Given the description of an element on the screen output the (x, y) to click on. 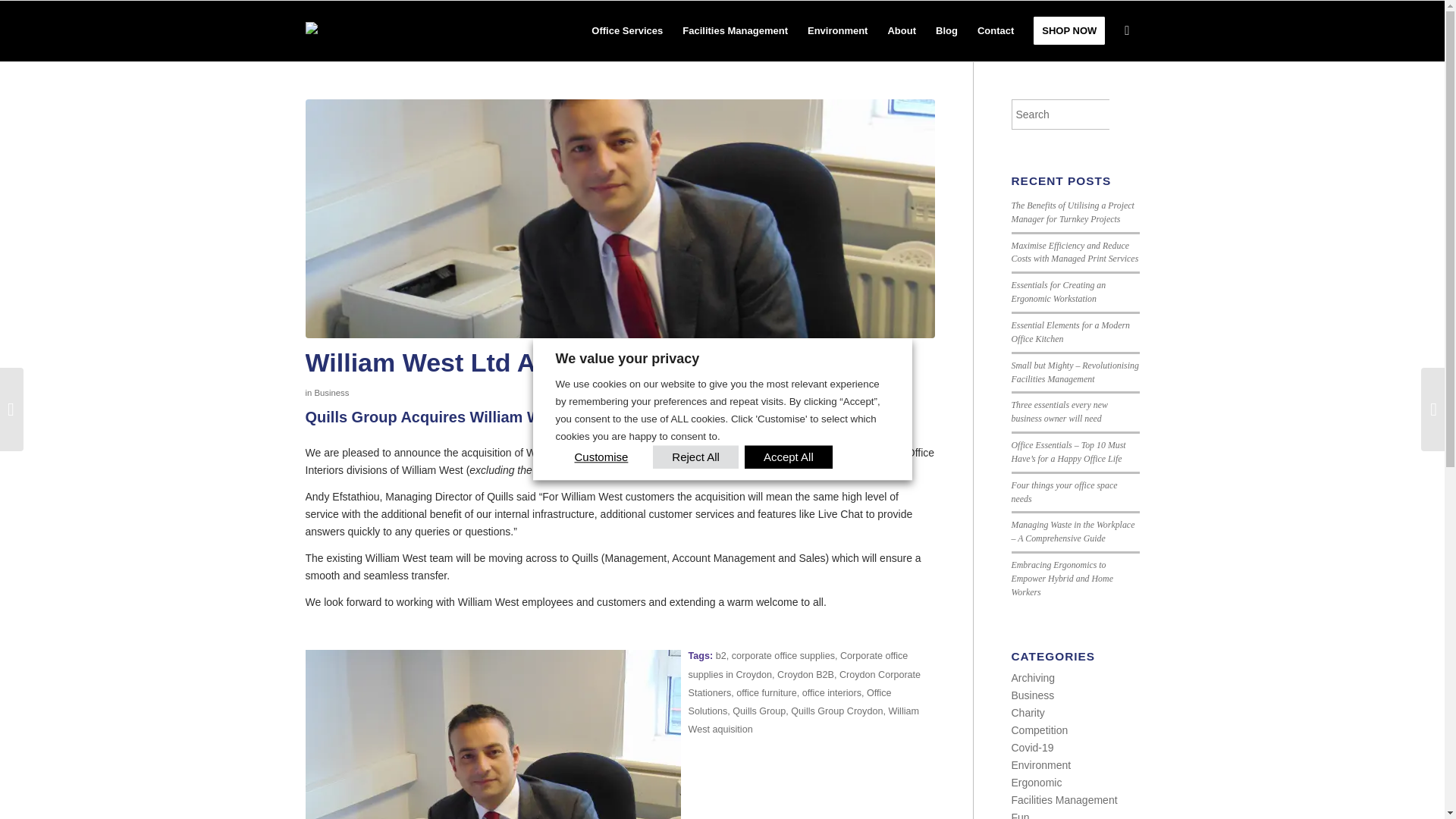
Office Services (626, 30)
Facilities Management (734, 30)
SHOP NOW (1069, 30)
White Reverse 350 (332, 31)
Environment (837, 30)
Contact (995, 30)
